Given the description of an element on the screen output the (x, y) to click on. 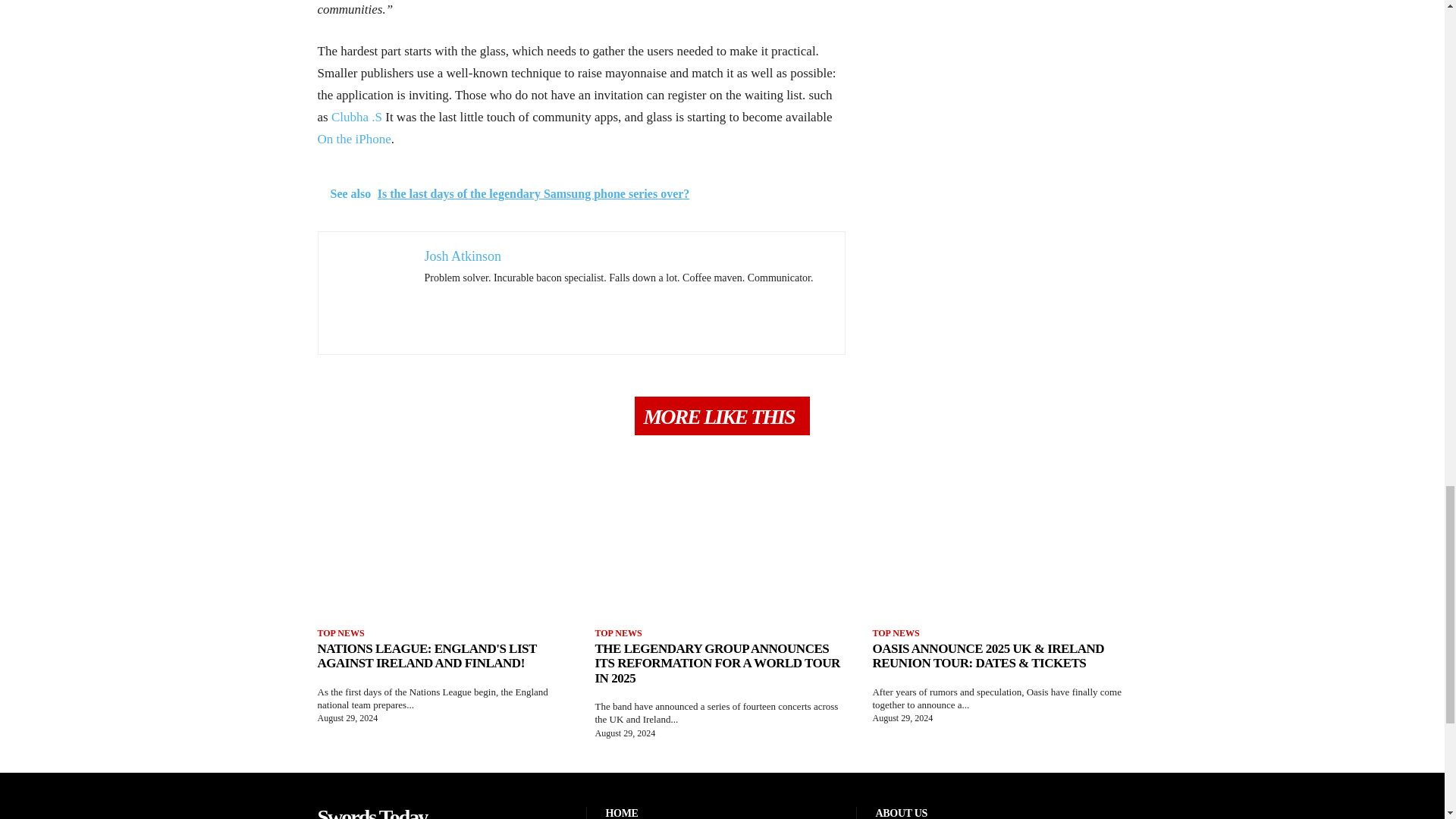
On the iPhone (353, 138)
Nations League: England's list against Ireland and Finland! (444, 554)
Nations League: England's list against Ireland and Finland! (426, 655)
Josh Atkinson (463, 255)
Clubha .S (356, 116)
